Given the description of an element on the screen output the (x, y) to click on. 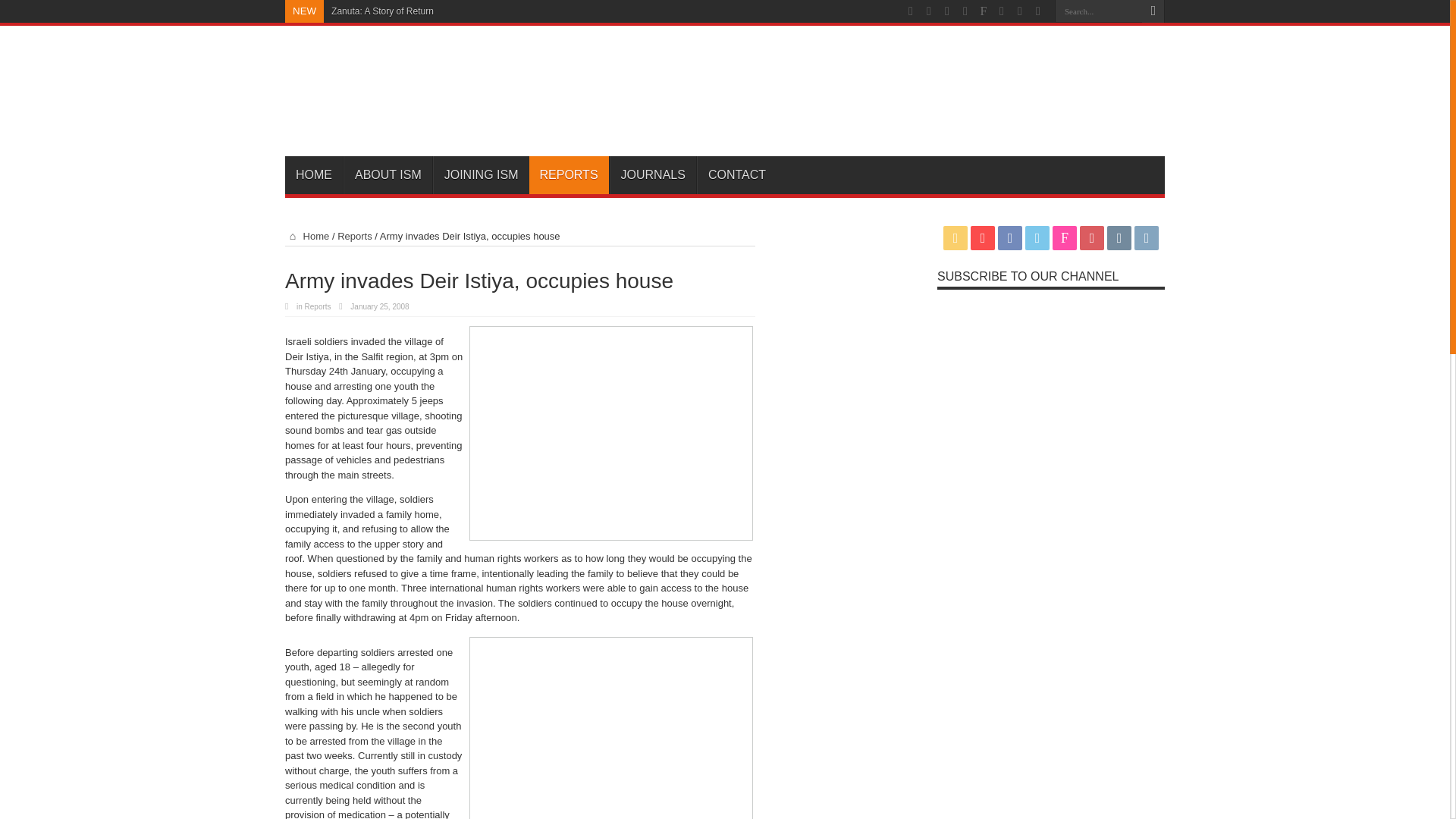
Reports (317, 306)
Zanuta: A Story of Return (382, 11)
Search... (1097, 11)
Zanuta: A Story of Return (382, 11)
International Solidarity Movement (436, 117)
JOINING ISM (480, 175)
HOME (313, 175)
Home (307, 235)
REPORTS (568, 175)
Reports (354, 235)
